Given the description of an element on the screen output the (x, y) to click on. 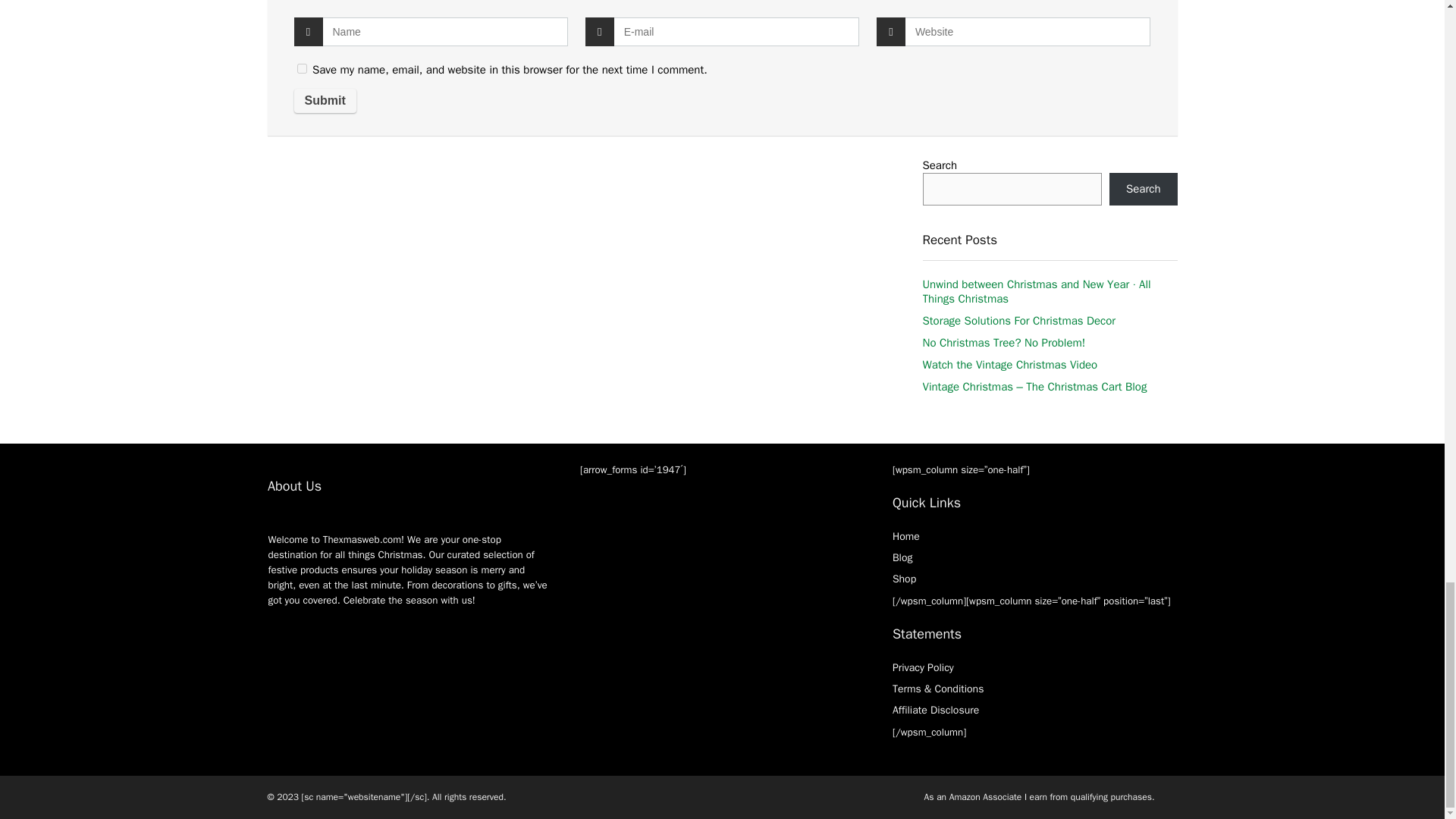
Affiliate Disclosure (935, 709)
Shop (903, 578)
yes (302, 68)
Home (906, 535)
Submit (325, 100)
No Christmas Tree? No Problem! (1002, 342)
Privacy Policy (922, 667)
Submit (325, 100)
Search (1143, 188)
Blog (902, 557)
